Given the description of an element on the screen output the (x, y) to click on. 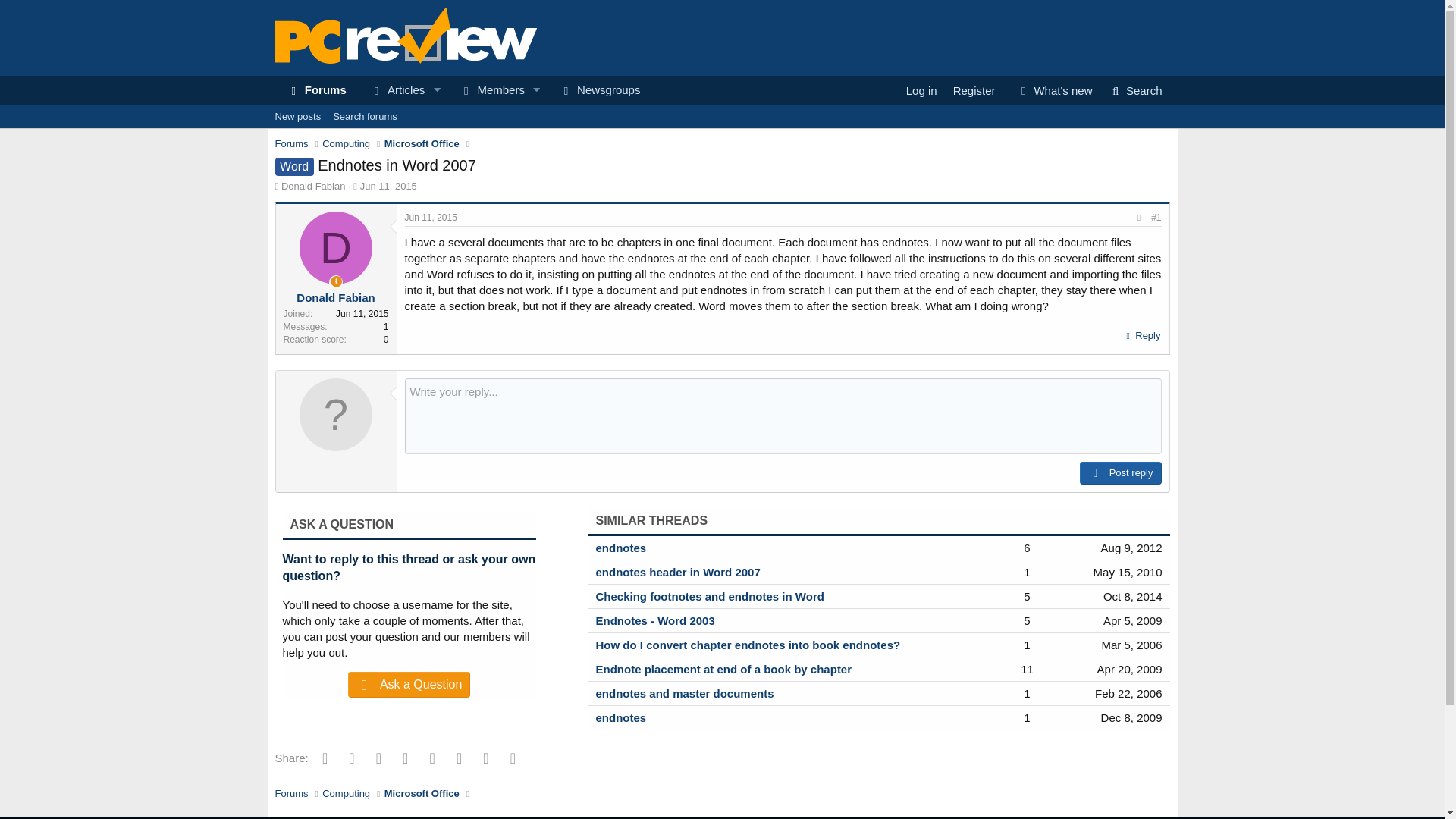
Apr 5, 2009 at 2:08 AM (462, 90)
Mar 5, 2006 at 3:49 PM (1132, 620)
Aug 9, 2012 at 8:36 AM (1130, 644)
May 15, 2010 at 4:09 PM (1130, 547)
Newsgroups (1127, 571)
Articles (599, 90)
Microsoft Office (392, 90)
Search (422, 143)
Search forums (1134, 90)
Computing (364, 116)
D (345, 143)
Jun 11, 2015 at 8:11 PM (335, 247)
Forums (430, 217)
Dec 8, 2009 at 3:01 AM (315, 90)
